Given the description of an element on the screen output the (x, y) to click on. 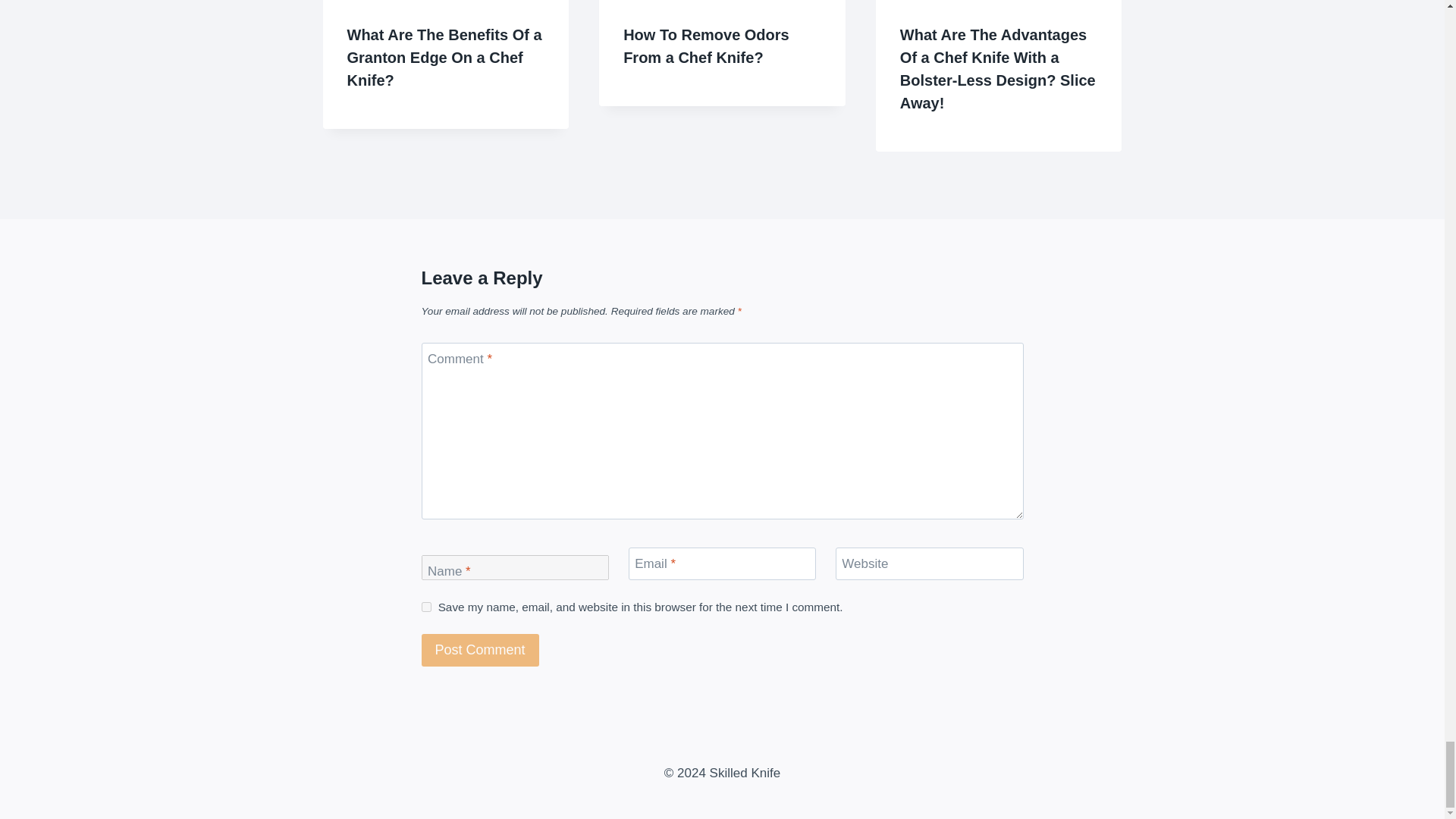
What Are The Benefits Of a Granton Edge On a Chef Knife? (444, 57)
Post Comment (480, 649)
yes (426, 606)
